Given the description of an element on the screen output the (x, y) to click on. 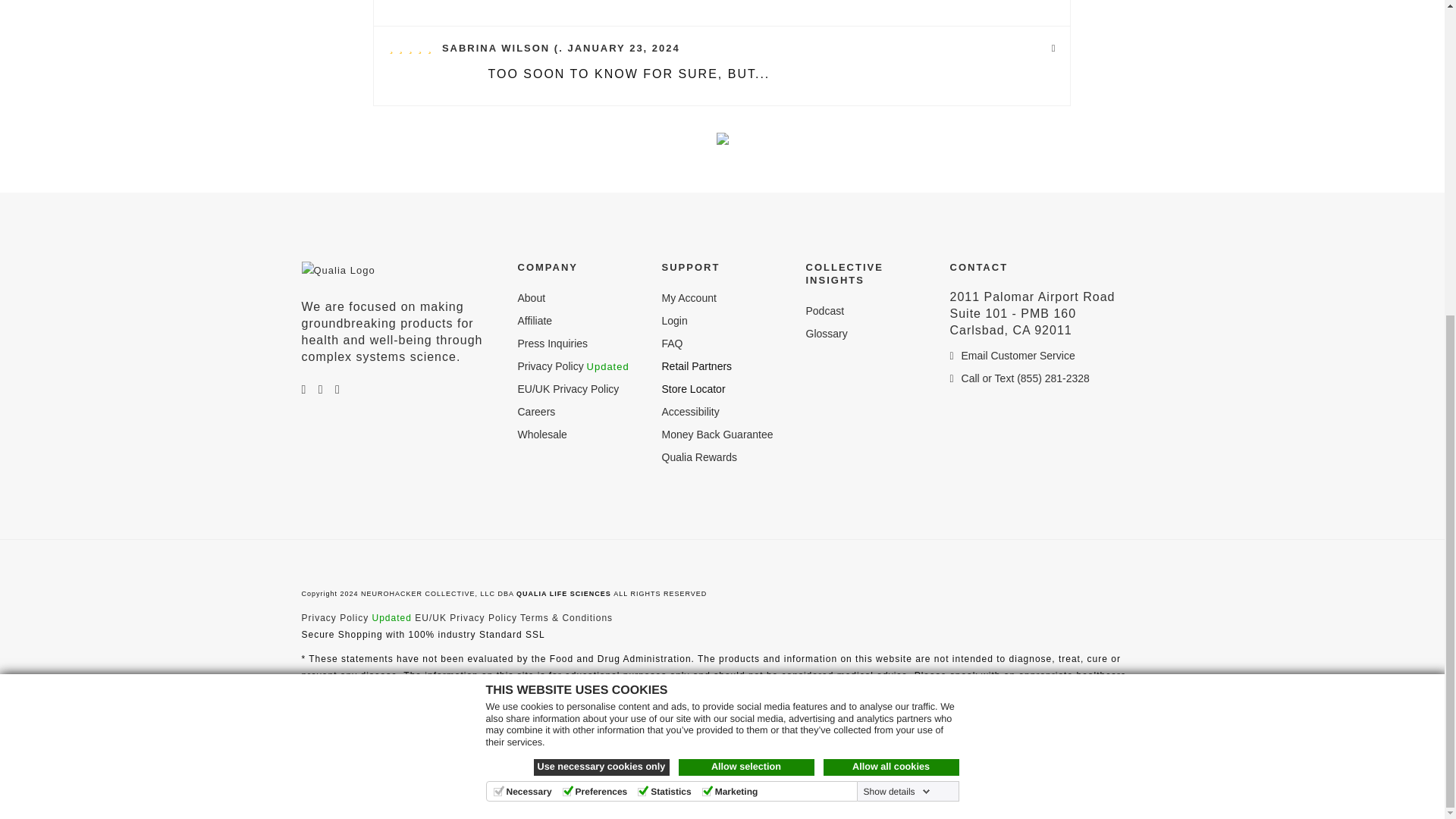
Show details (896, 285)
Allow all cookies (891, 261)
Use necessary cookies only (601, 261)
Allow selection (745, 261)
